Given the description of an element on the screen output the (x, y) to click on. 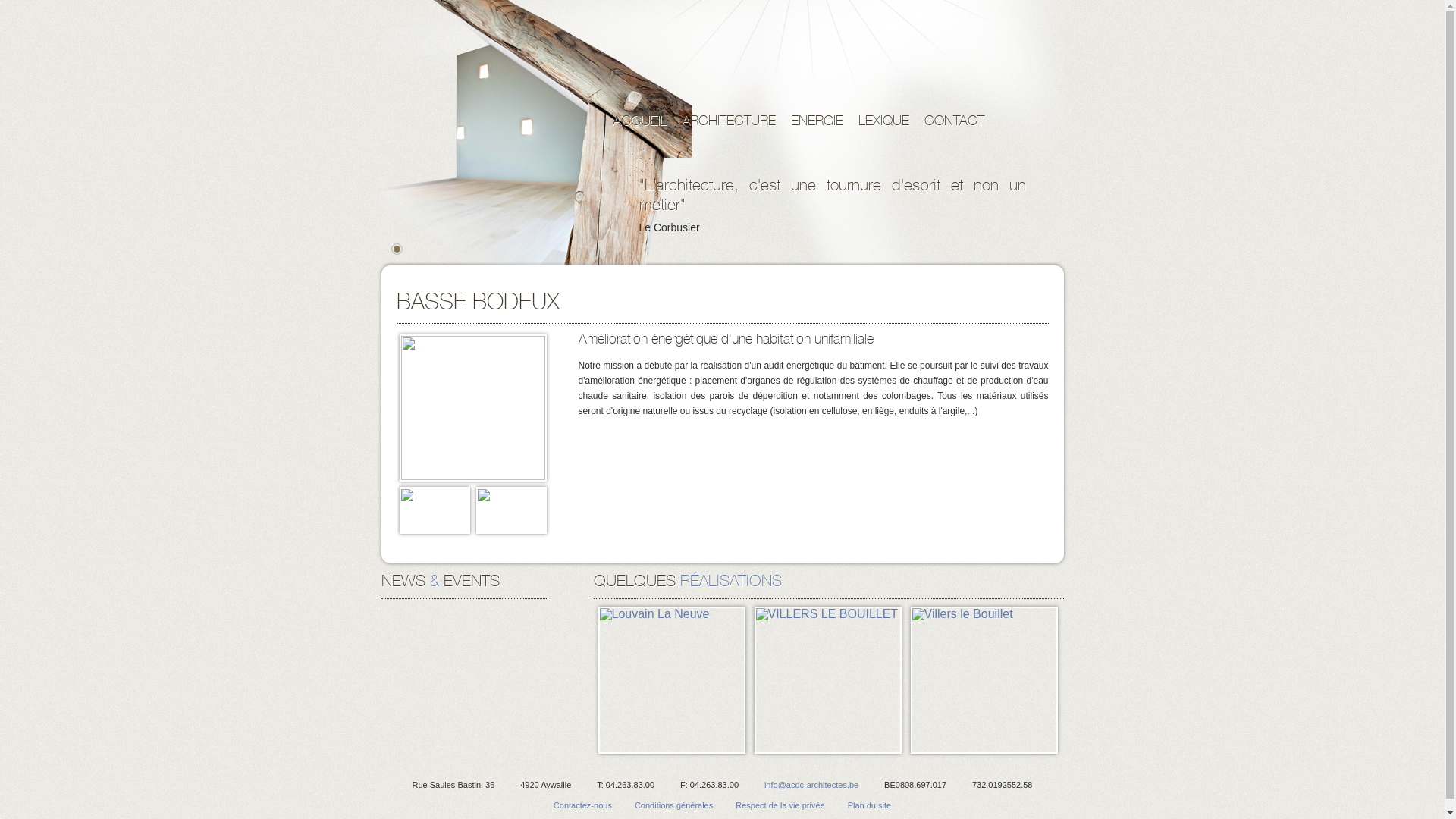
info@acdc-architectes.be Element type: text (811, 784)
LEXIQUE Element type: text (883, 120)
VILLERS LE BOUILLET Element type: hover (826, 679)
Contactez-nous Element type: text (582, 804)
Louvain La Neuve Element type: hover (670, 679)
ENERGIE Element type: text (816, 120)
CONTACT Element type: text (953, 120)
Plan du site Element type: text (869, 804)
ACCUEIL Element type: text (639, 120)
ARCHITECTURE Element type: text (727, 120)
Villers le Bouillet Element type: hover (983, 679)
